Given the description of an element on the screen output the (x, y) to click on. 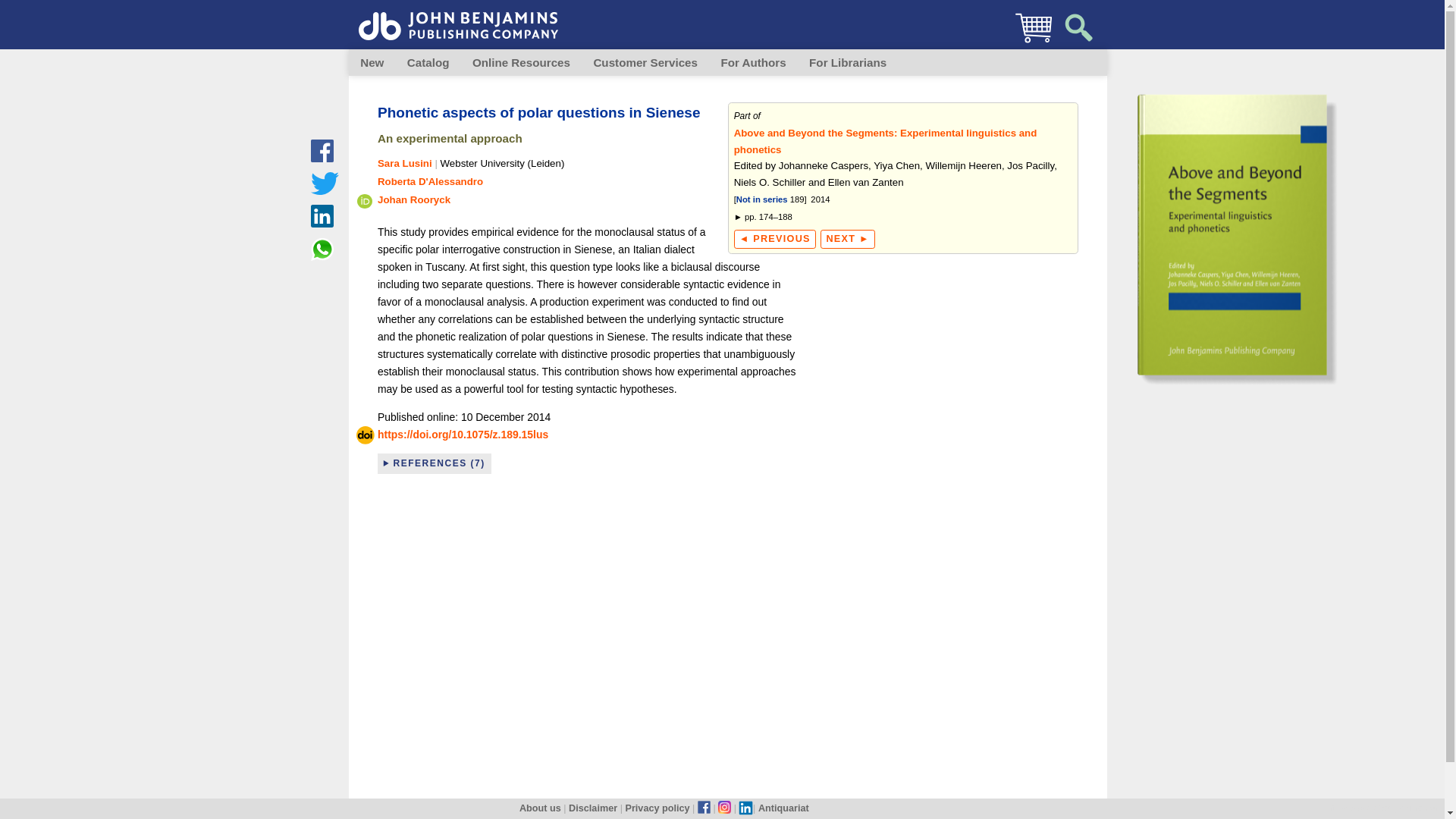
New (372, 62)
Catalog (428, 62)
New (371, 62)
Catalog (428, 62)
